Given the description of an element on the screen output the (x, y) to click on. 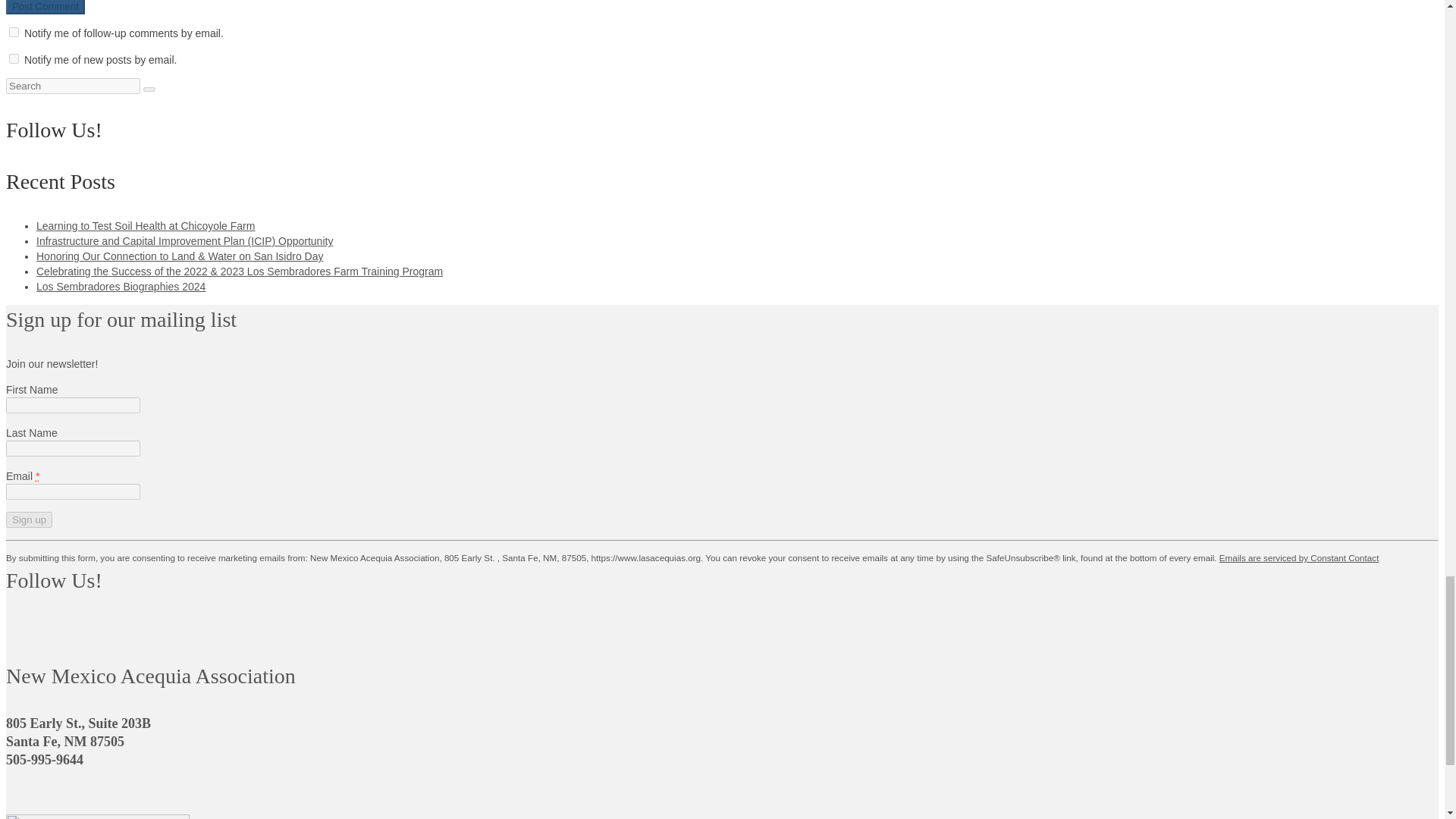
Sign up (28, 519)
Post Comment (44, 7)
subscribe (13, 58)
subscribe (13, 31)
